Given the description of an element on the screen output the (x, y) to click on. 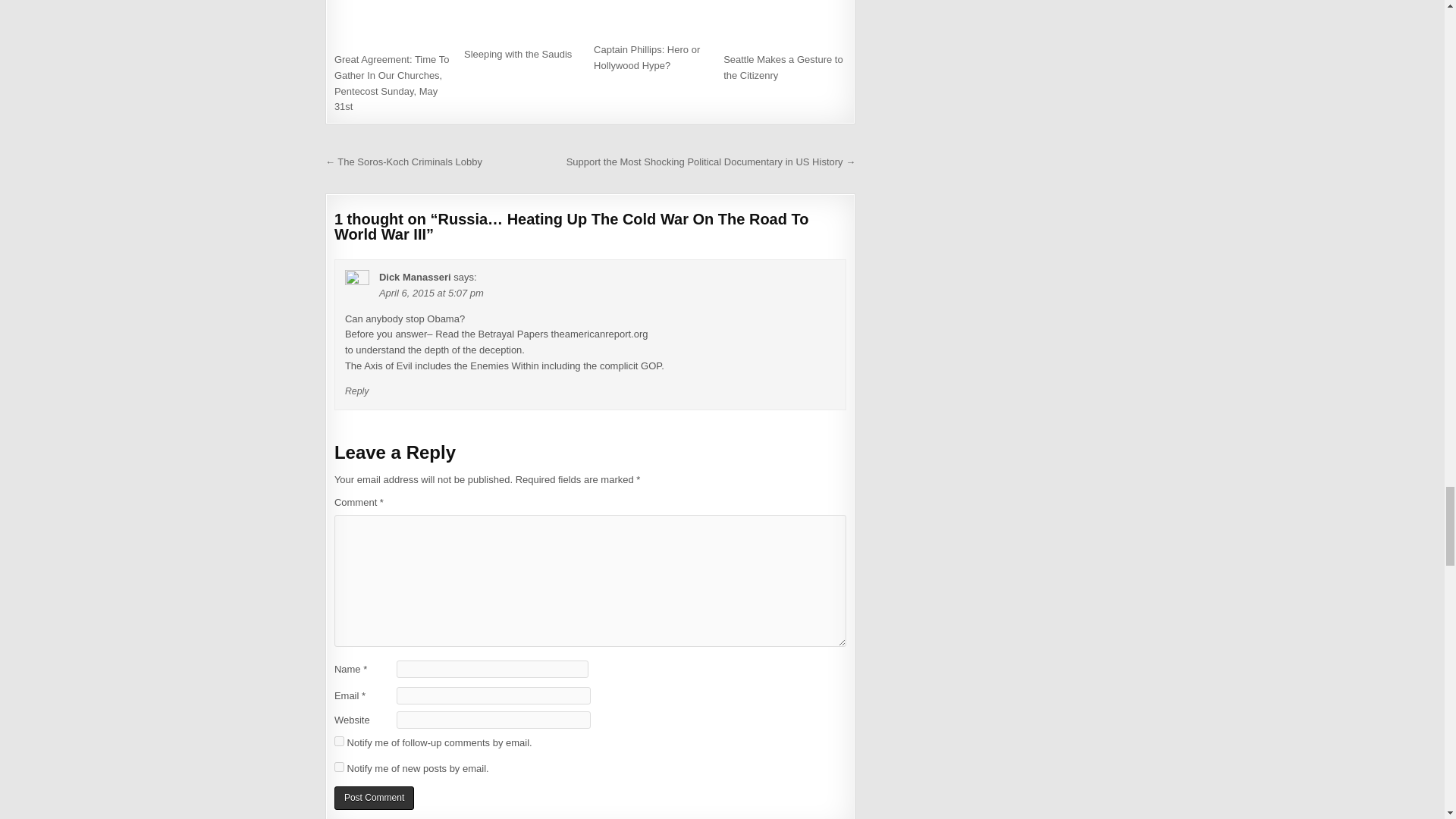
subscribe (338, 767)
Post Comment (373, 797)
subscribe (338, 741)
